Given the description of an element on the screen output the (x, y) to click on. 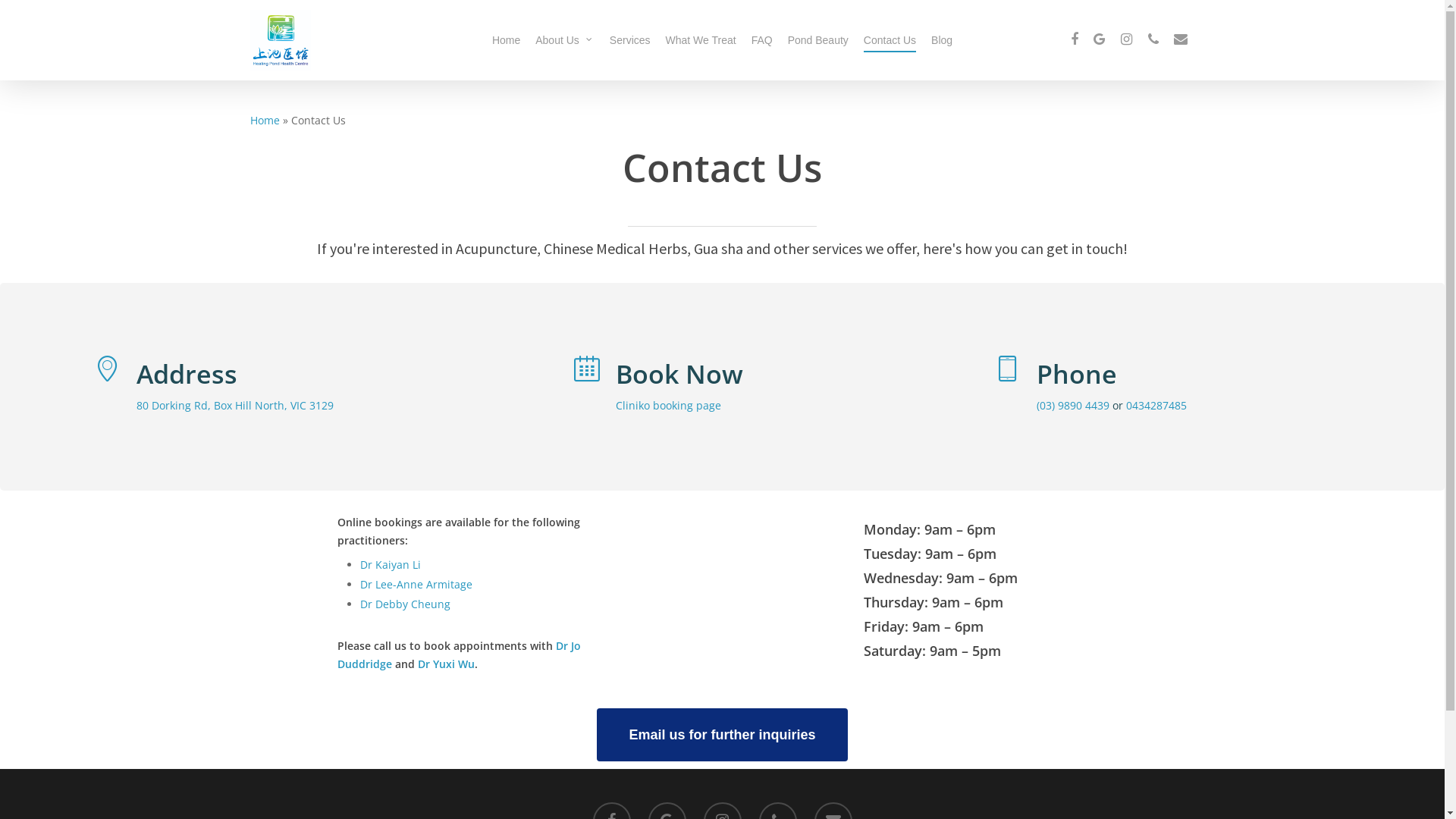
(03) 9890 4439 Element type: text (1072, 405)
Contact Us Element type: text (889, 39)
What We Treat Element type: text (700, 39)
80 Dorking Rd, Box Hill North, VIC 3129 Element type: text (234, 405)
FAQ Element type: text (761, 39)
Services Element type: text (629, 39)
Home Element type: text (264, 119)
Dr Debby Cheung Element type: text (405, 603)
Dr Jo Duddridge Element type: text (458, 654)
Home Element type: text (506, 39)
Dr Kaiyan Li Element type: text (390, 564)
Cliniko booking page Element type: text (668, 405)
Blog Element type: text (941, 39)
Dr Yuxi Wu Element type: text (445, 663)
About Us Element type: text (564, 39)
Pond Beauty Element type: text (817, 39)
Dr Lee-Anne Armitage Element type: text (416, 584)
Email us for further inquiries Element type: text (721, 734)
0434287485 Element type: text (1156, 405)
